Given the description of an element on the screen output the (x, y) to click on. 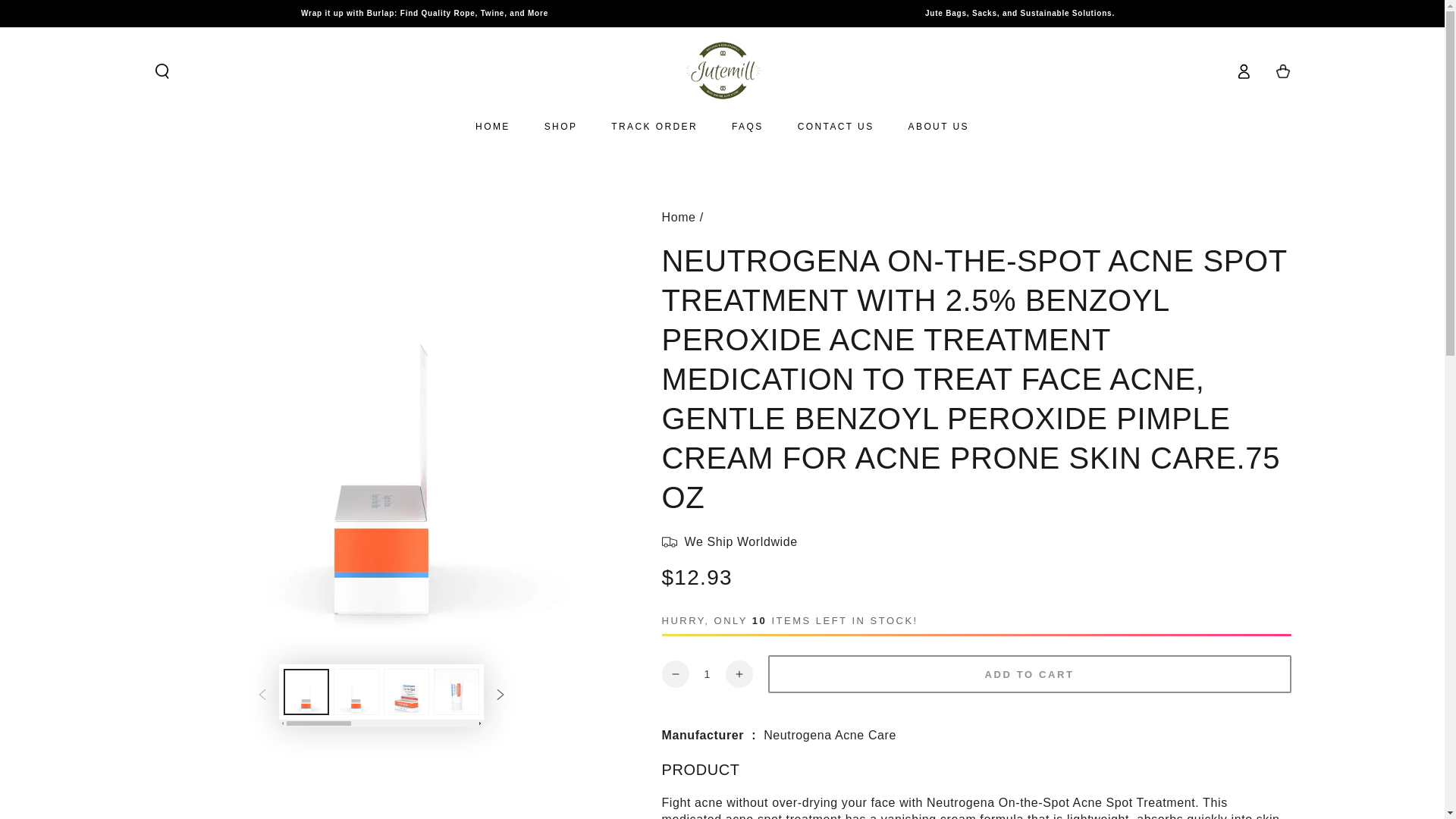
1 (706, 673)
Back to the frontpage (678, 216)
SHOP (560, 126)
SKIP TO CONTENT (67, 14)
HOME (492, 126)
